Given the description of an element on the screen output the (x, y) to click on. 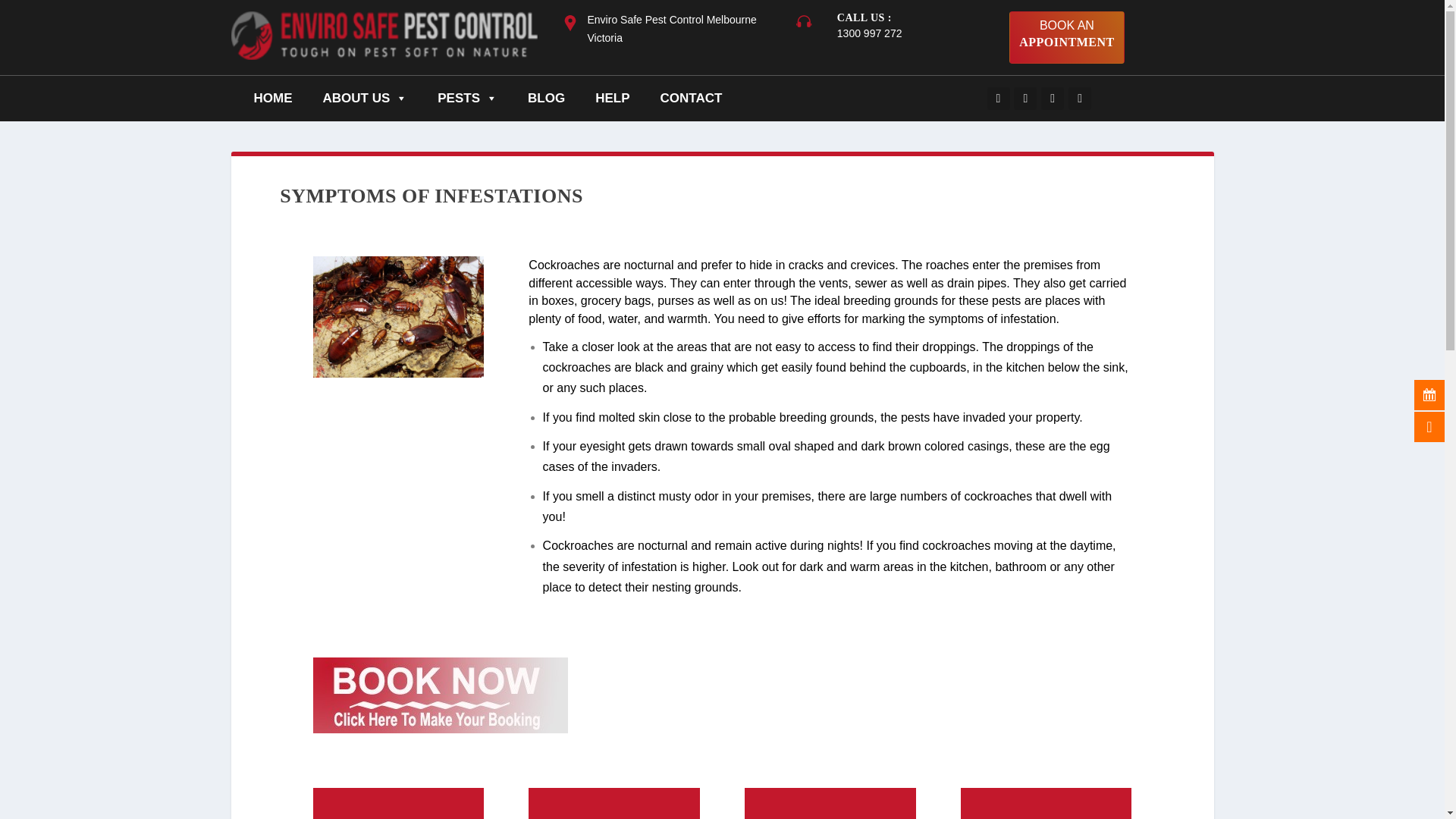
HOME (1066, 37)
CONTACT (272, 98)
HELP (690, 98)
ABOUT US (612, 98)
BLOG (365, 98)
PESTS (545, 98)
1300 997 272 (467, 98)
